Given the description of an element on the screen output the (x, y) to click on. 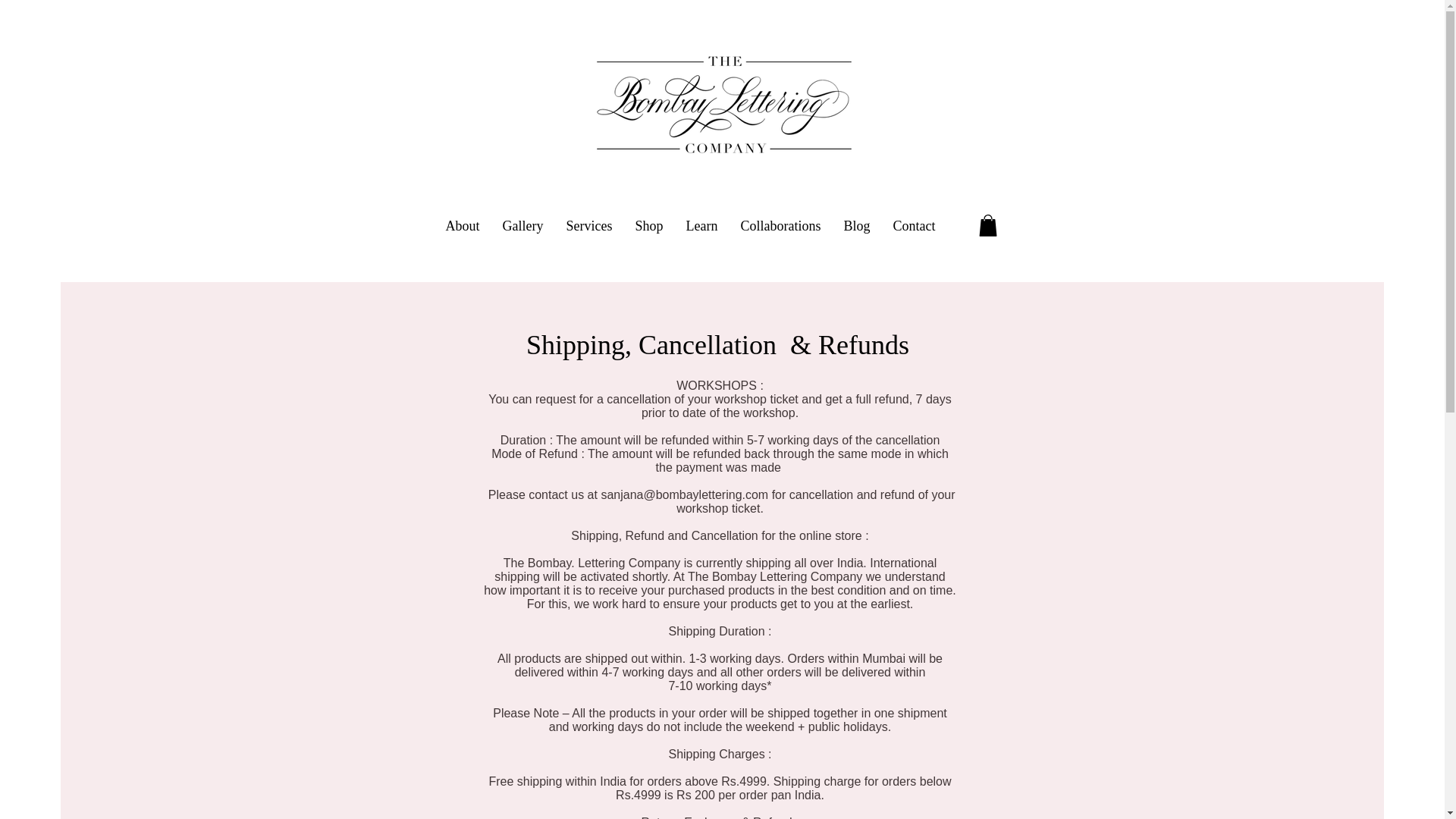
Learn (702, 225)
About (461, 225)
Gallery (523, 225)
Collaborations (780, 225)
Blog (857, 225)
Contact (913, 225)
Services (589, 225)
Go to TBLC Home (721, 103)
